Given the description of an element on the screen output the (x, y) to click on. 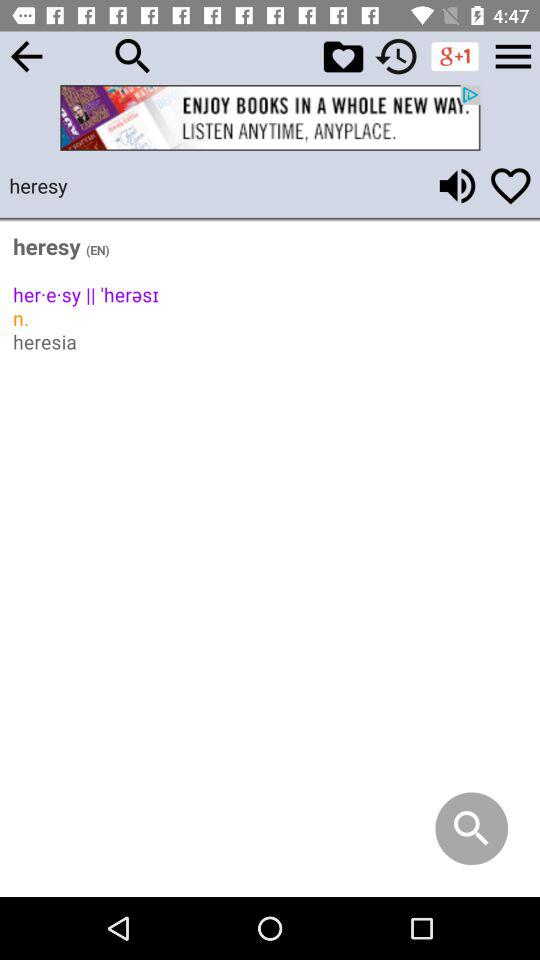
reload the page (396, 56)
